Given the description of an element on the screen output the (x, y) to click on. 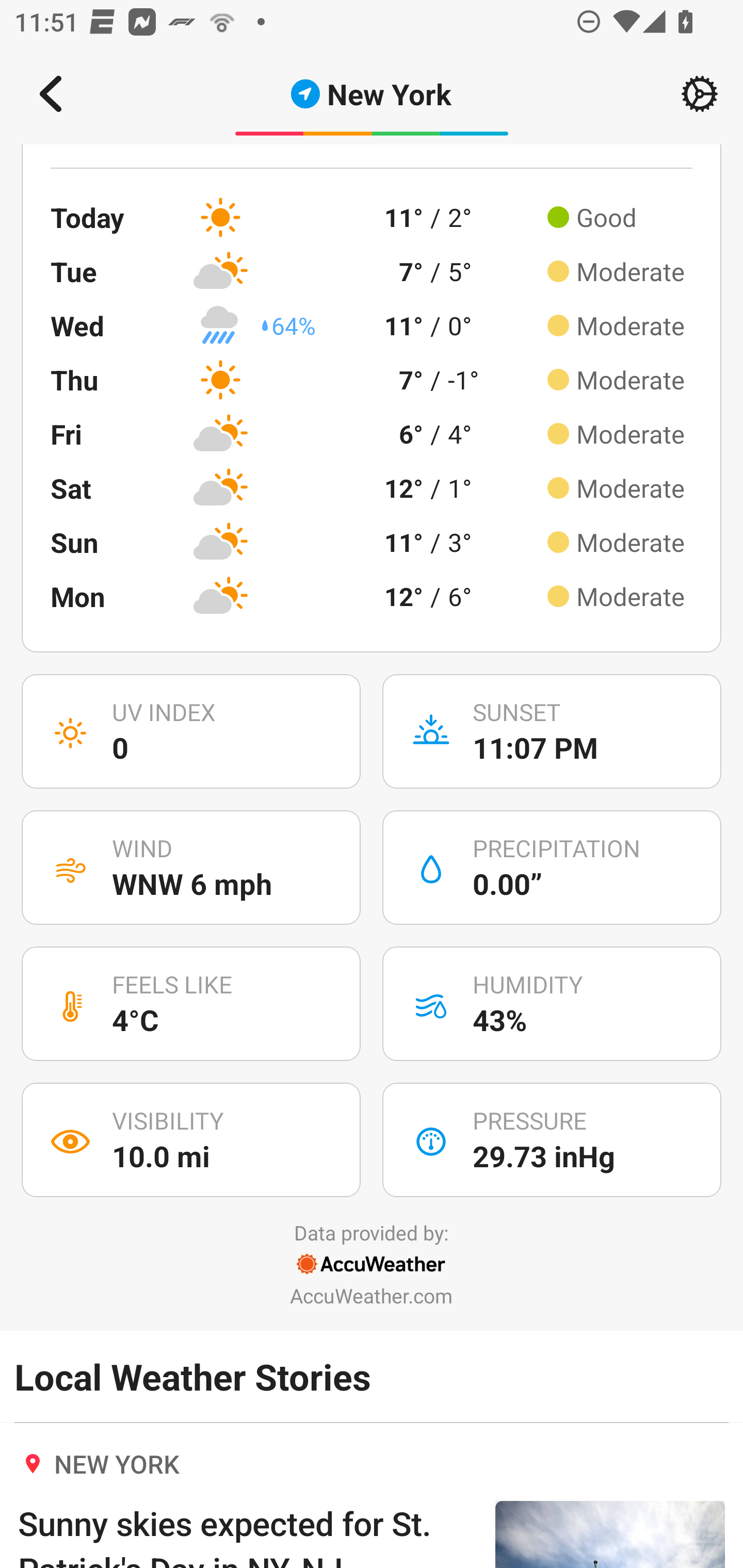
Navigate up (50, 93)
Setting (699, 93)
